Given the description of an element on the screen output the (x, y) to click on. 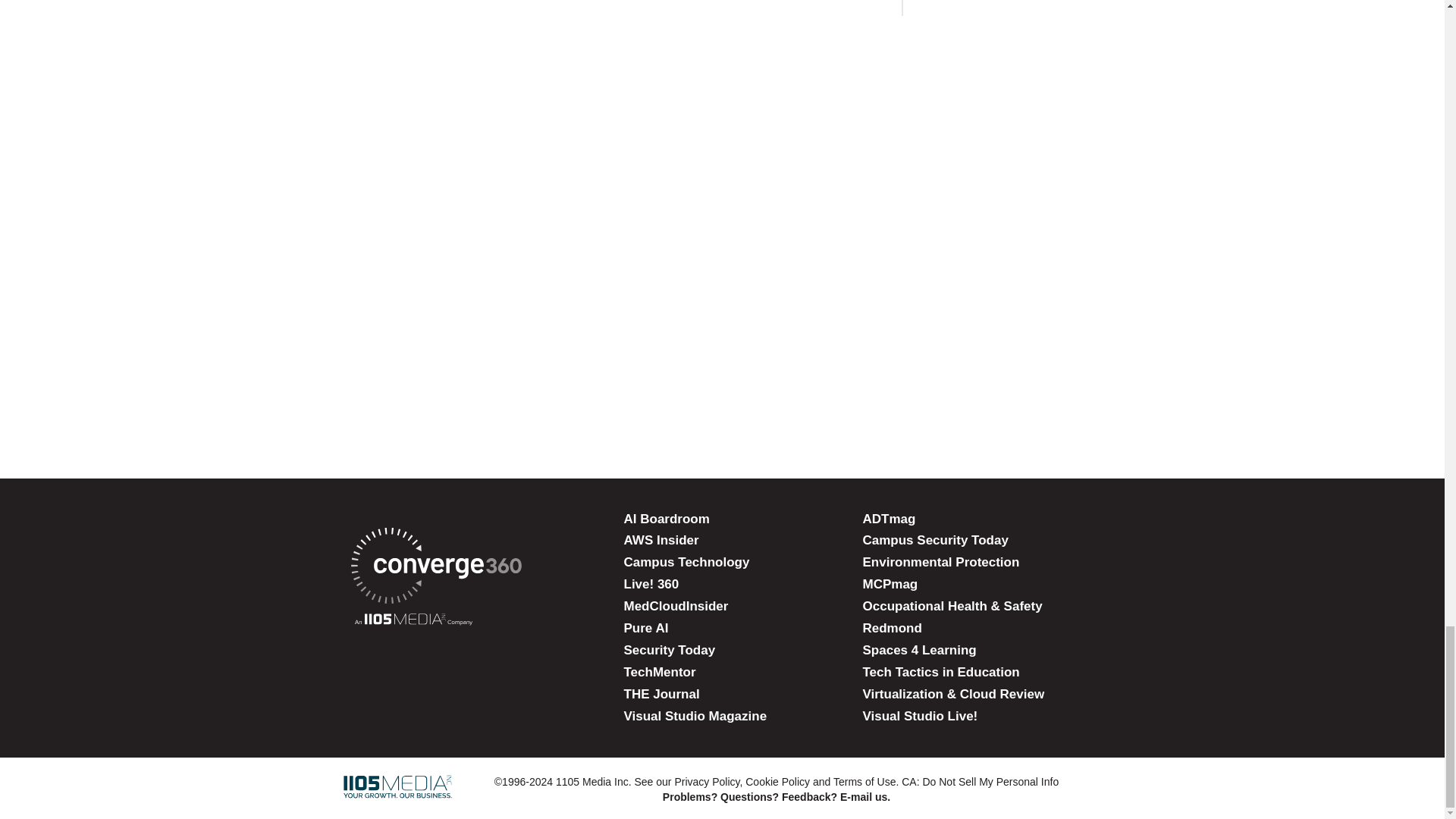
3rd party ad content (721, 386)
3rd party ad content (721, 68)
